Given the description of an element on the screen output the (x, y) to click on. 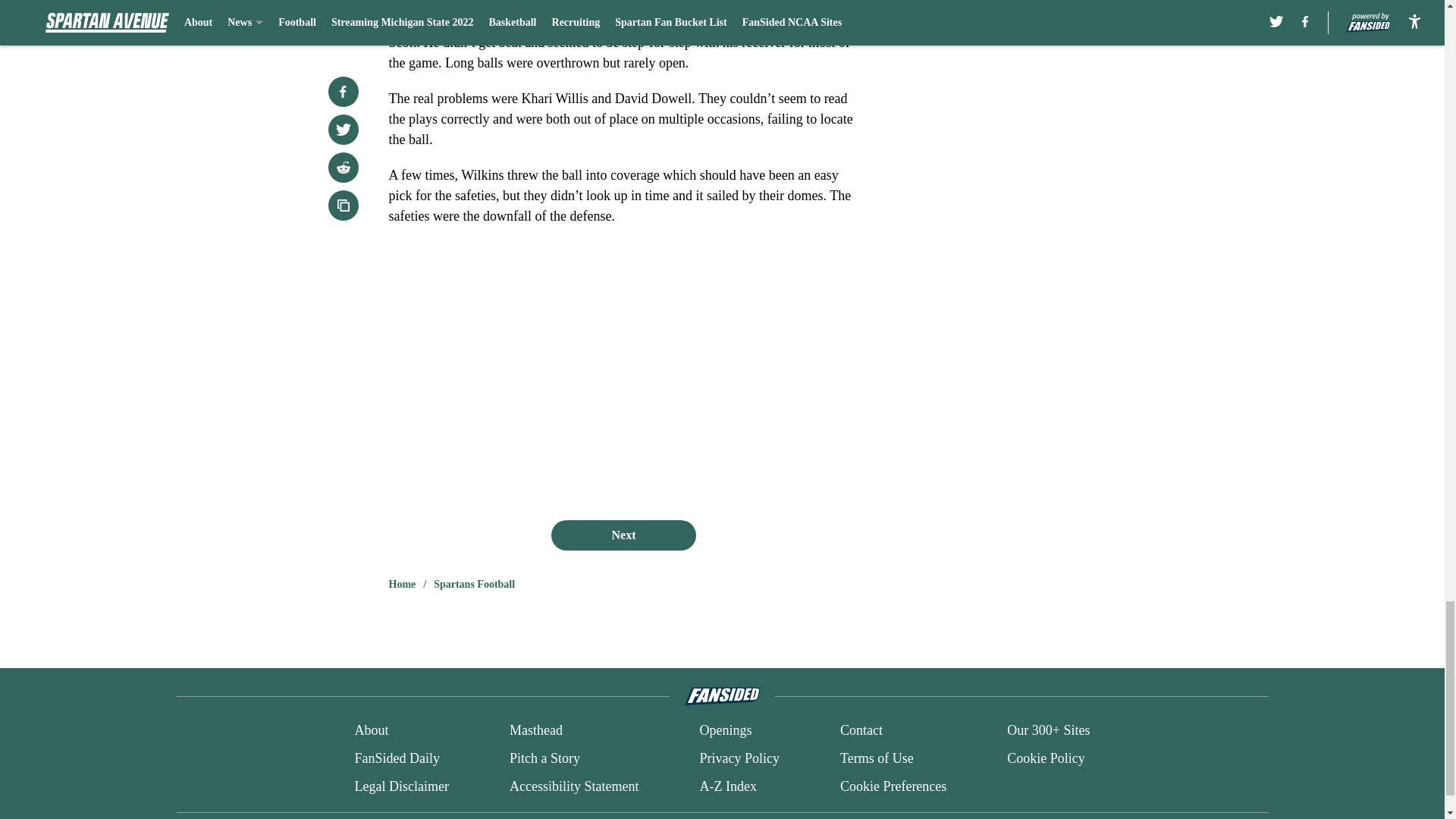
Masthead (535, 730)
Contact (861, 730)
Next (622, 535)
About (370, 730)
Openings (724, 730)
Spartans Football (474, 584)
Home (401, 584)
